Given the description of an element on the screen output the (x, y) to click on. 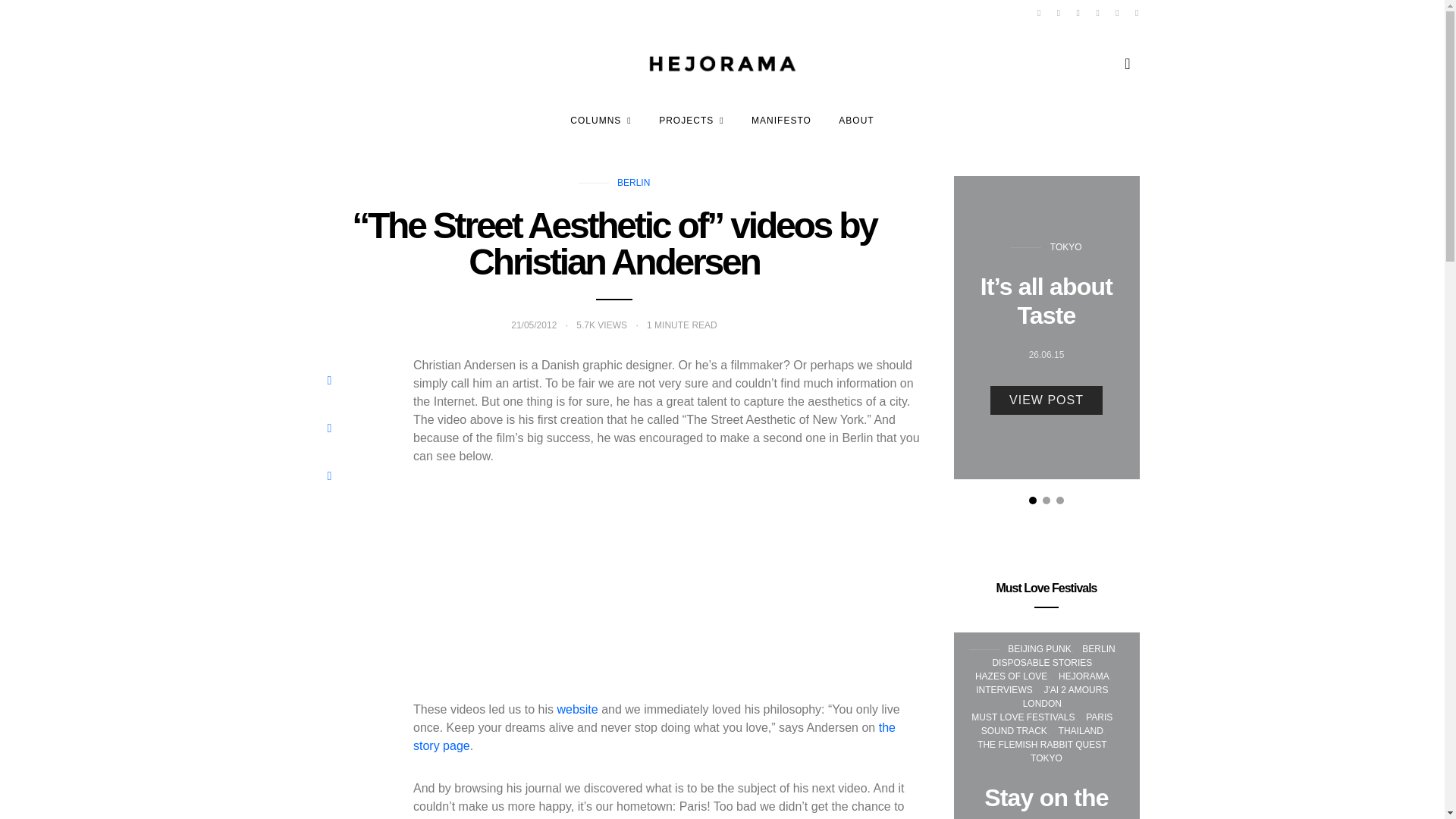
ABOUT (855, 120)
website (576, 708)
the story page (654, 736)
MANIFESTO (780, 120)
PROJECTS (691, 120)
BERLIN (633, 182)
COLUMNS (600, 120)
